Given the description of an element on the screen output the (x, y) to click on. 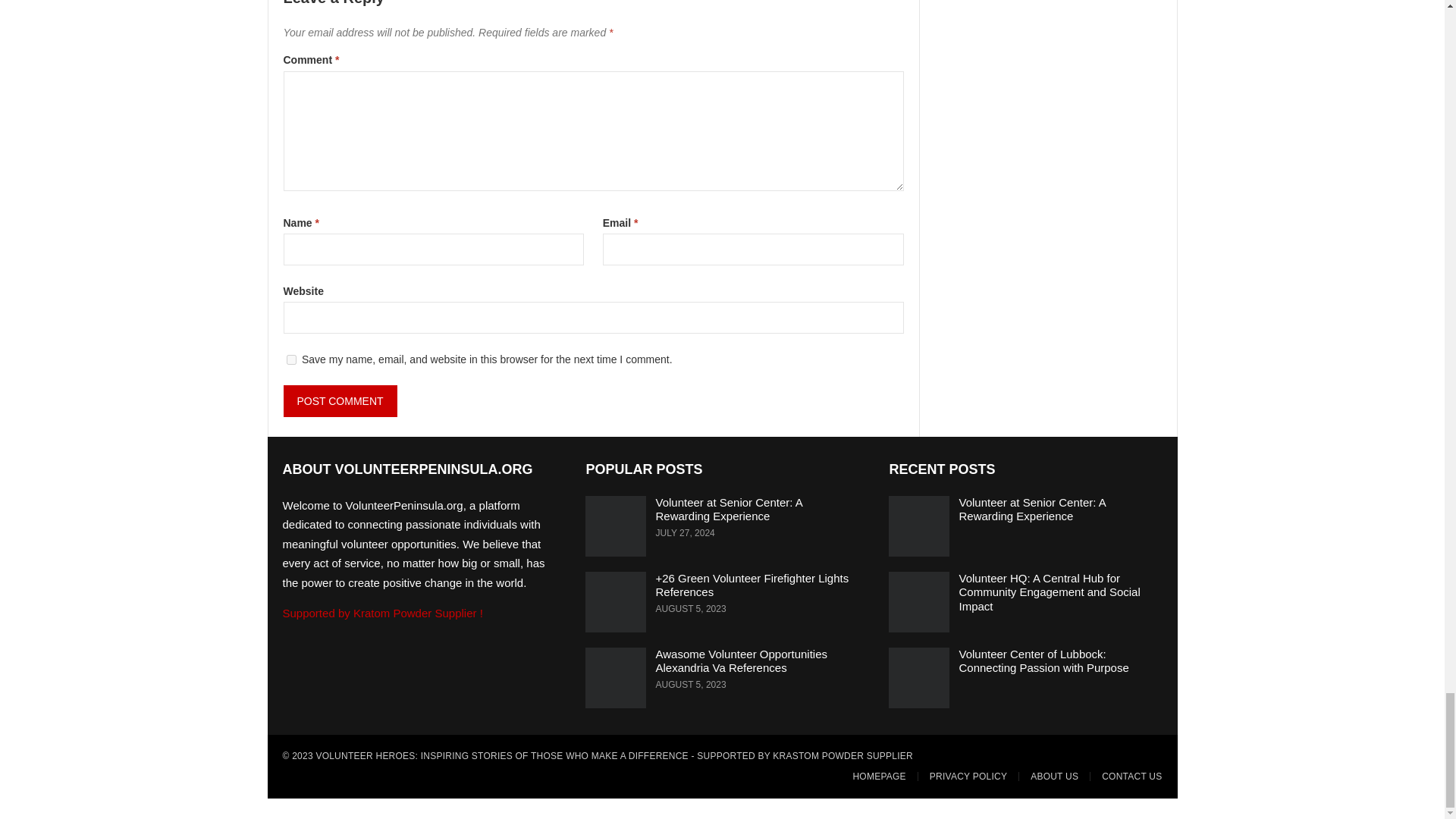
yes (291, 359)
Post Comment (340, 400)
